Given the description of an element on the screen output the (x, y) to click on. 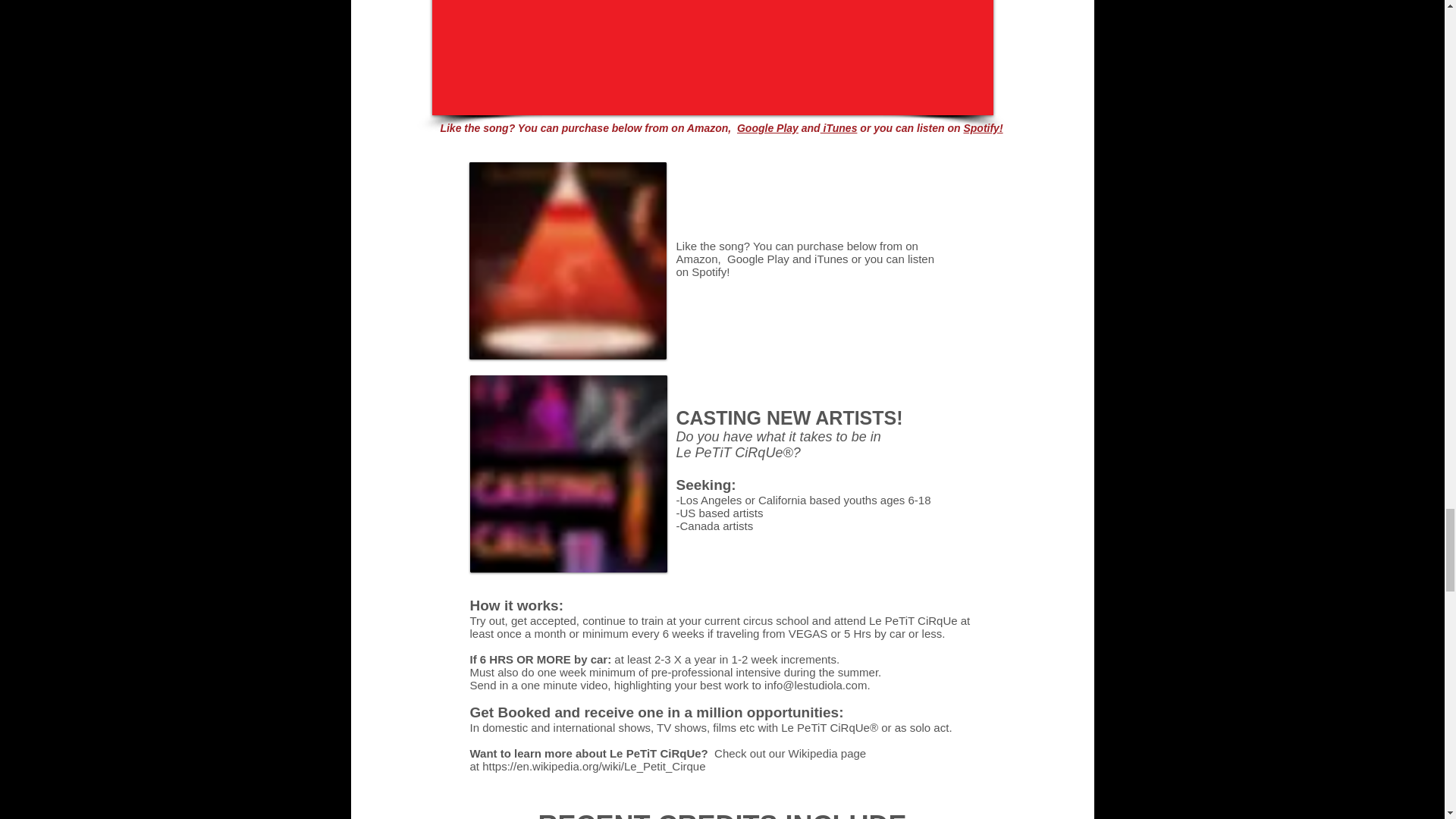
iTunes (839, 128)
Google Play (757, 258)
Spotify! (982, 128)
Google Play (766, 128)
iTunes (829, 258)
Spotify! (710, 271)
External YouTube (711, 57)
